Given the description of an element on the screen output the (x, y) to click on. 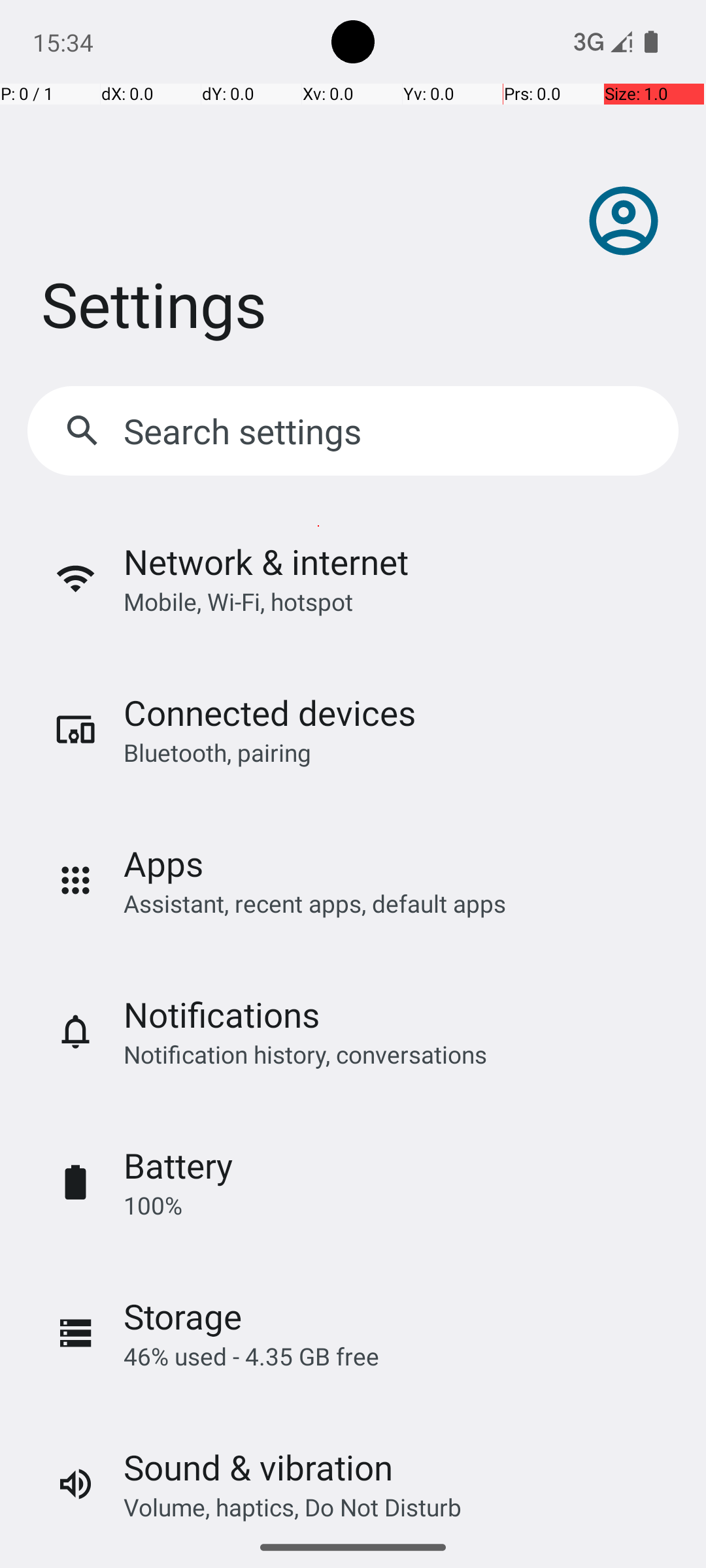
46% used - 4.35 GB free Element type: android.widget.TextView (251, 1355)
